Given the description of an element on the screen output the (x, y) to click on. 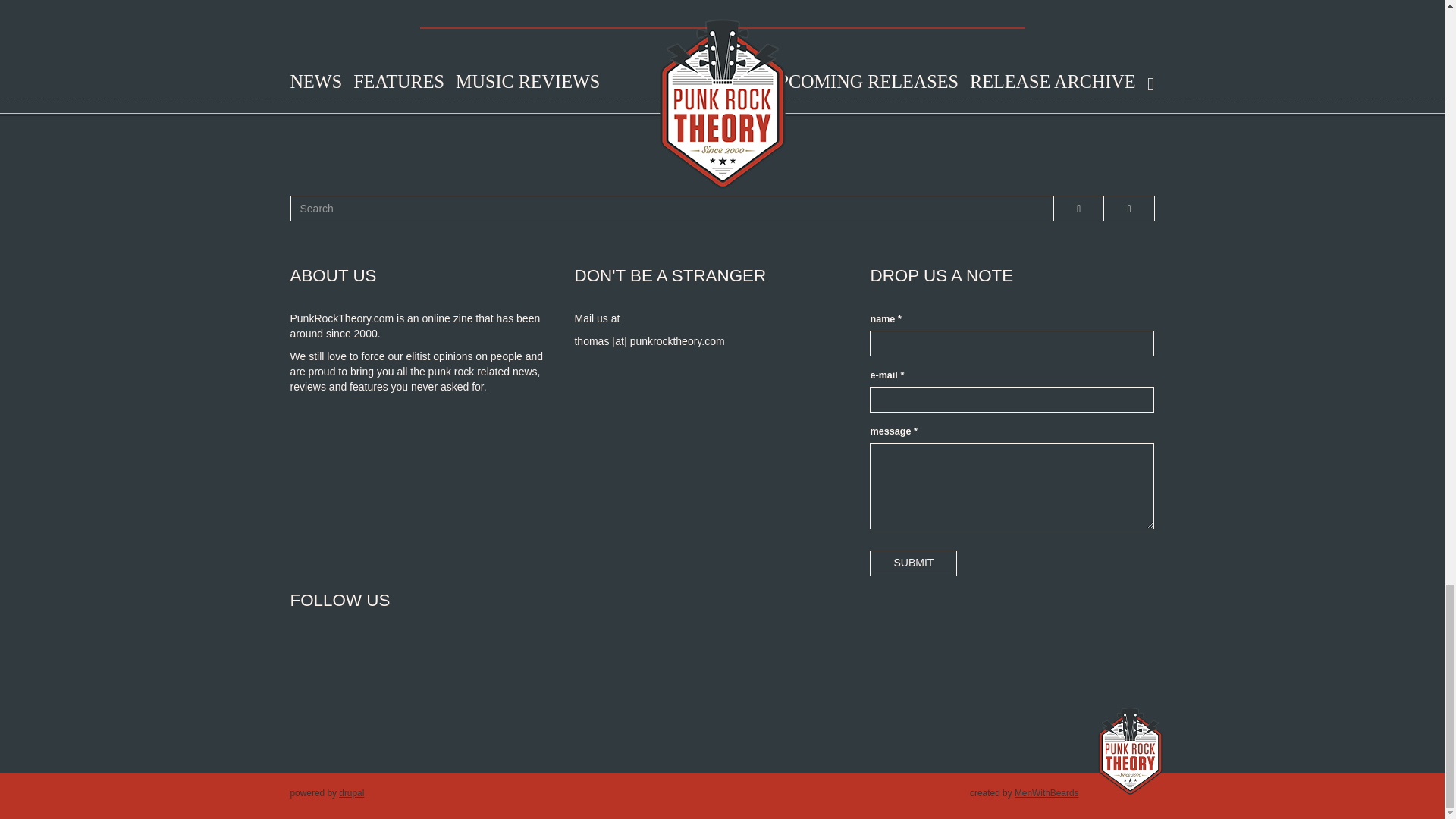
SEARCH (312, 221)
Facebook (311, 659)
YouTube (416, 659)
SUBMIT (912, 563)
drupal (351, 792)
MenWithBeards (1046, 792)
Twitter (364, 659)
Enter the terms you wish to search for. (671, 208)
Instagram (469, 659)
